Given the description of an element on the screen output the (x, y) to click on. 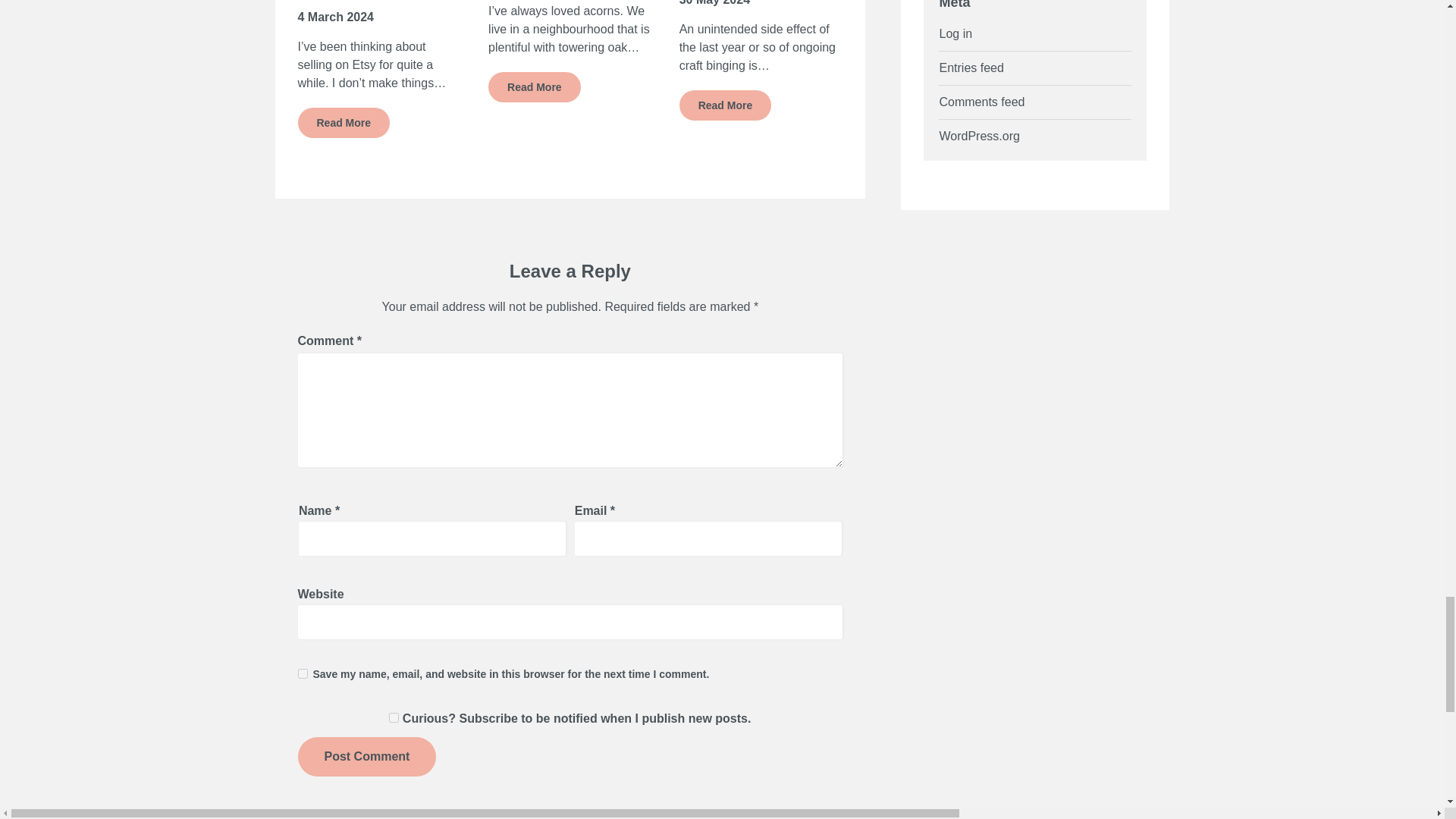
Read More (533, 87)
Post Comment (366, 756)
Read More (725, 105)
Post Comment (366, 756)
yes (302, 673)
30 May 2024 (714, 2)
Read More (343, 122)
1 (393, 717)
4 March 2024 (335, 16)
